Given the description of an element on the screen output the (x, y) to click on. 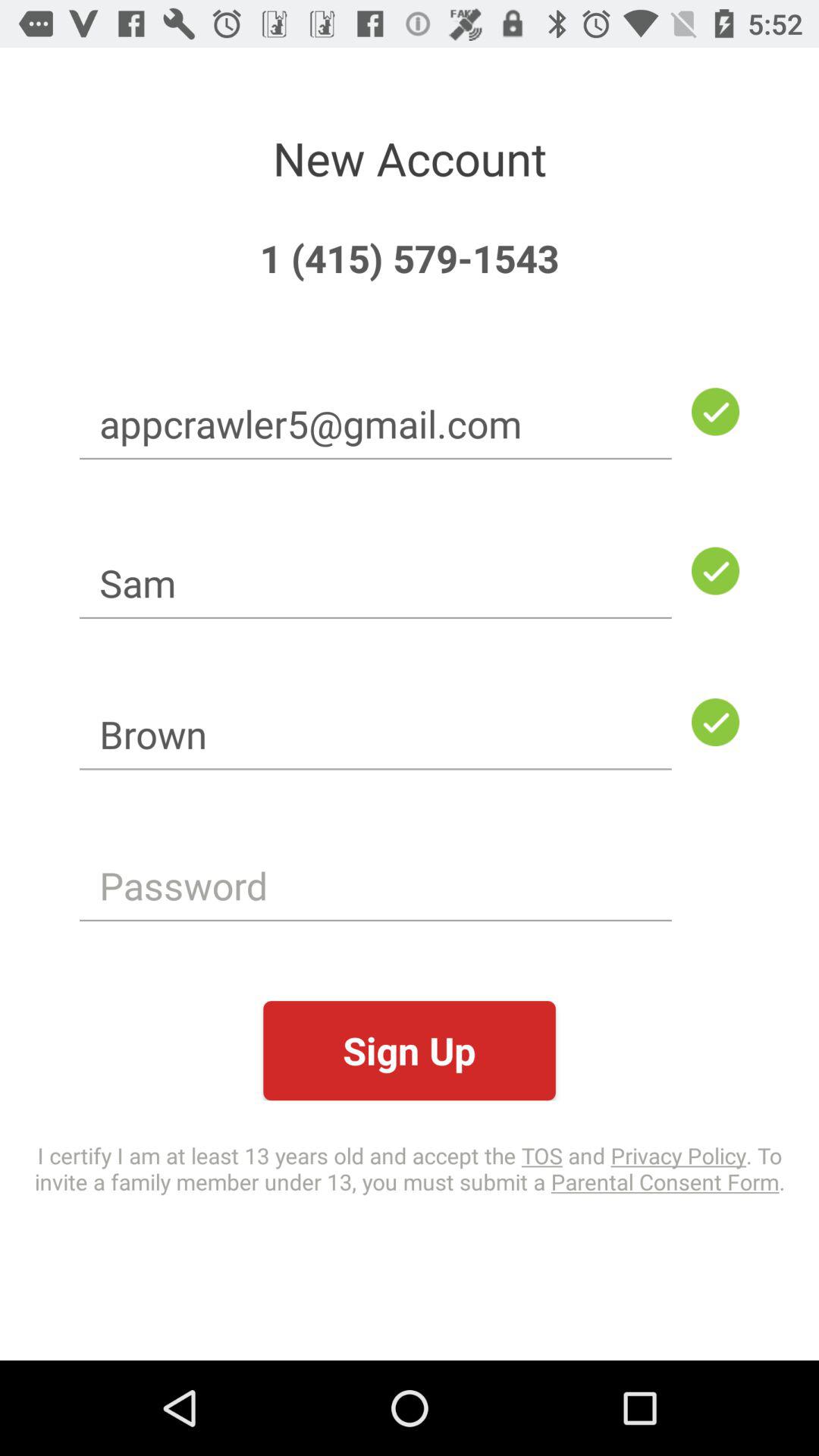
press i certify i item (409, 1168)
